Given the description of an element on the screen output the (x, y) to click on. 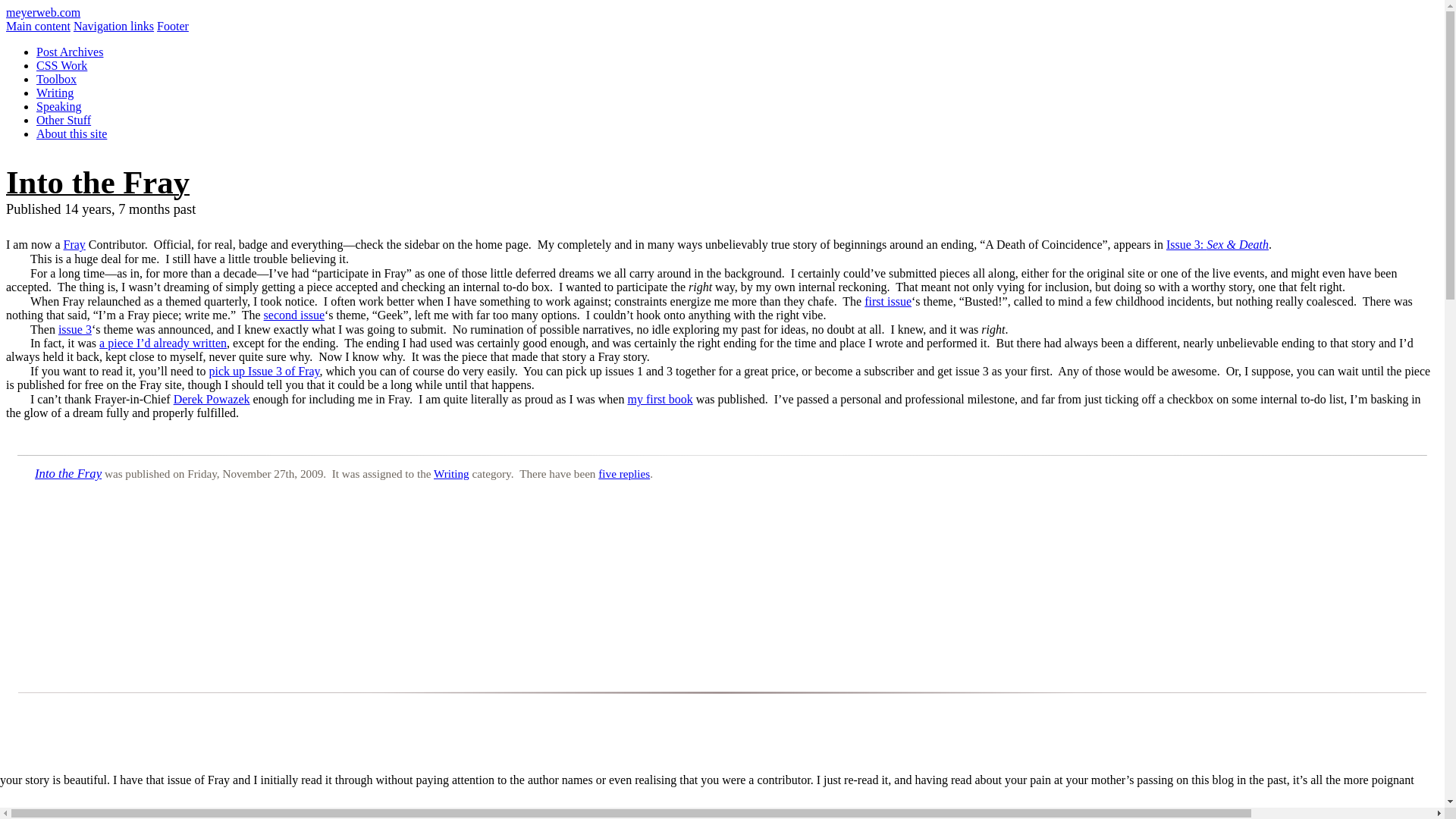
second issue (293, 314)
Fray (74, 244)
Derek Powazek (211, 399)
Navigation links (114, 25)
Main content (37, 25)
Writing (55, 92)
issue 3 (74, 328)
meyerweb.com (42, 11)
pick up Issue 3 of Fray (264, 370)
first issue (887, 300)
Toolbox (56, 78)
CSS Work (61, 65)
Into the Fray (67, 472)
Into the Fray (97, 181)
About this site (71, 133)
